Given the description of an element on the screen output the (x, y) to click on. 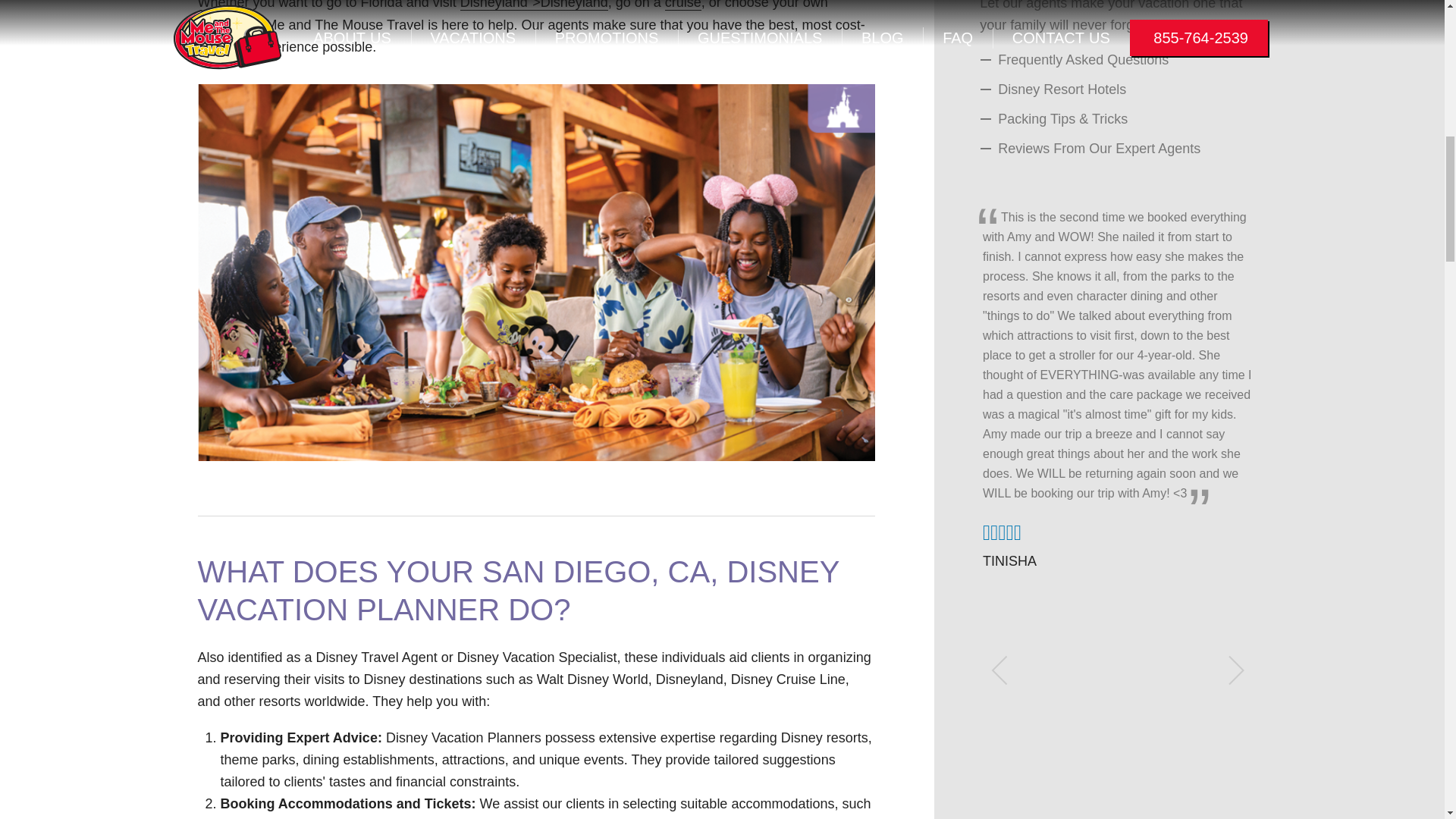
cruise (683, 5)
